Given the description of an element on the screen output the (x, y) to click on. 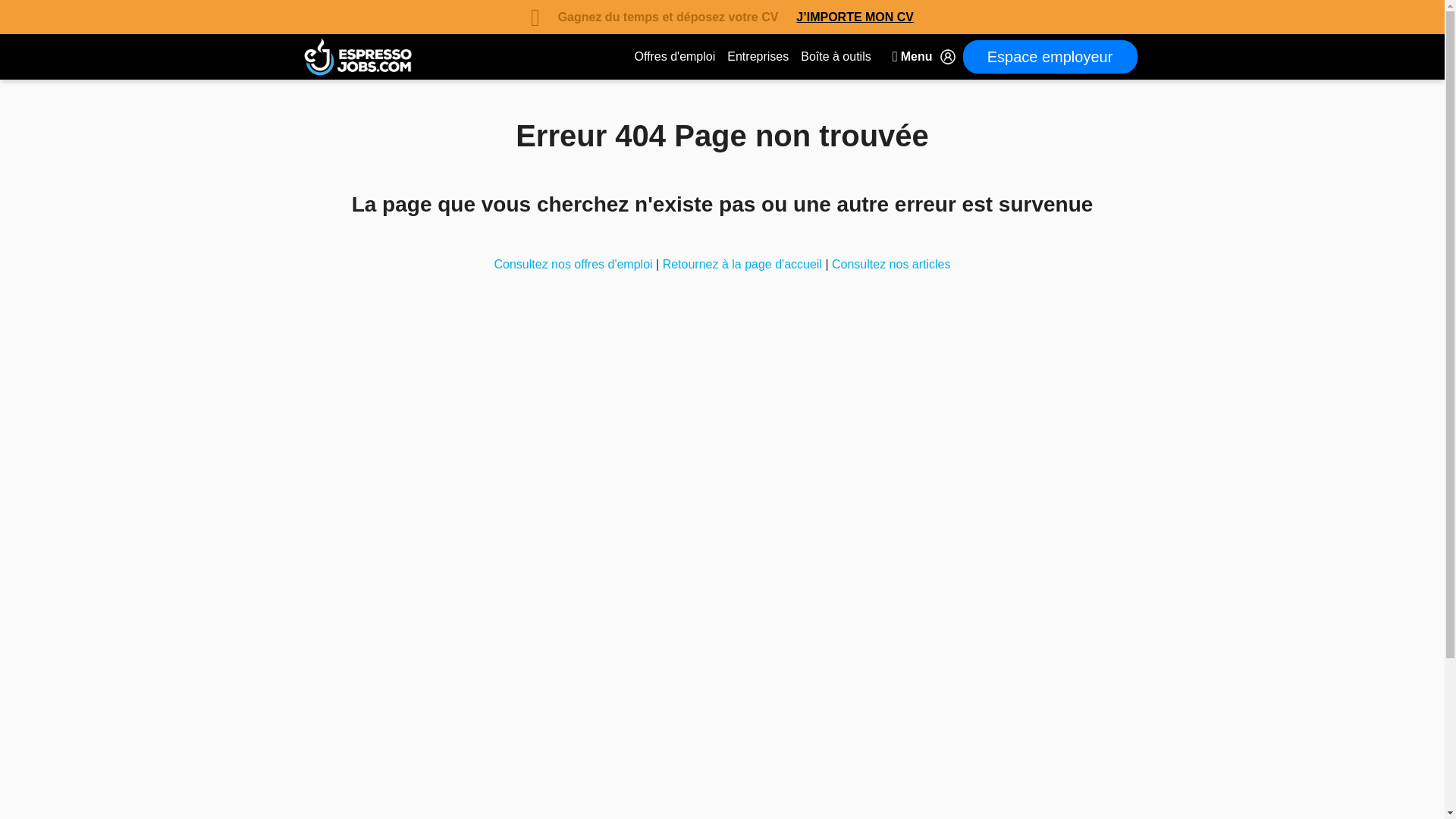
Entreprises (757, 56)
Offres d'emploi (673, 56)
Espace employeur (1049, 56)
Entreprises (757, 56)
Consultez nos articles (890, 264)
Offres d'emploi (673, 56)
Espace employeur (1049, 56)
Consultez nos offres d'emploi (574, 264)
